Given the description of an element on the screen output the (x, y) to click on. 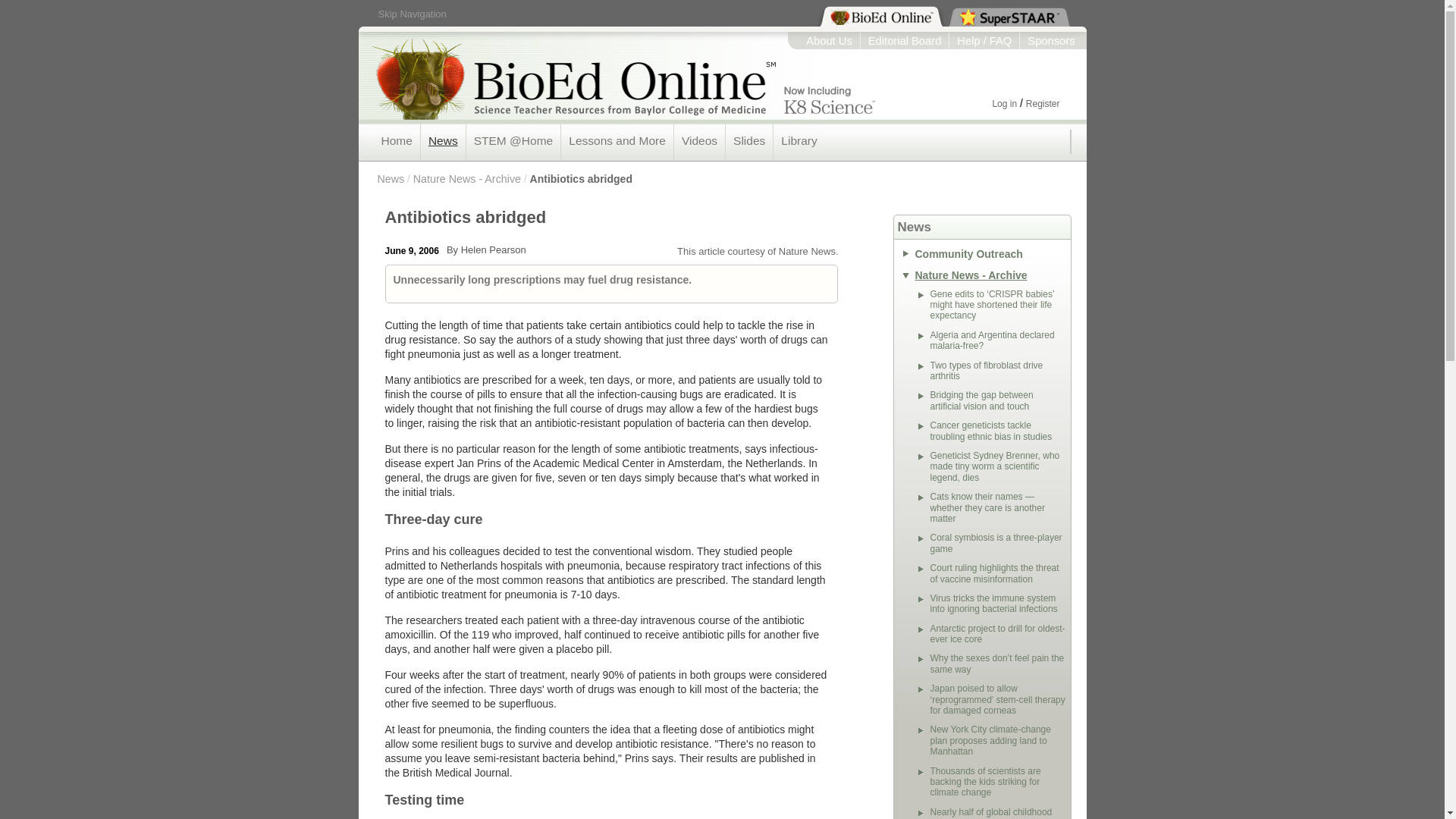
Go to SuperSTAAR (1001, 15)
Register (1042, 103)
Lessons and More (616, 140)
Home (395, 140)
About Us (828, 40)
Skip Navigation, go directly to page content. (410, 13)
Editorial Board (904, 40)
Sponsors (1050, 40)
Log in (1003, 103)
View SuperSTAAR (1001, 15)
News (442, 140)
Skip Navigation (410, 13)
